Given the description of an element on the screen output the (x, y) to click on. 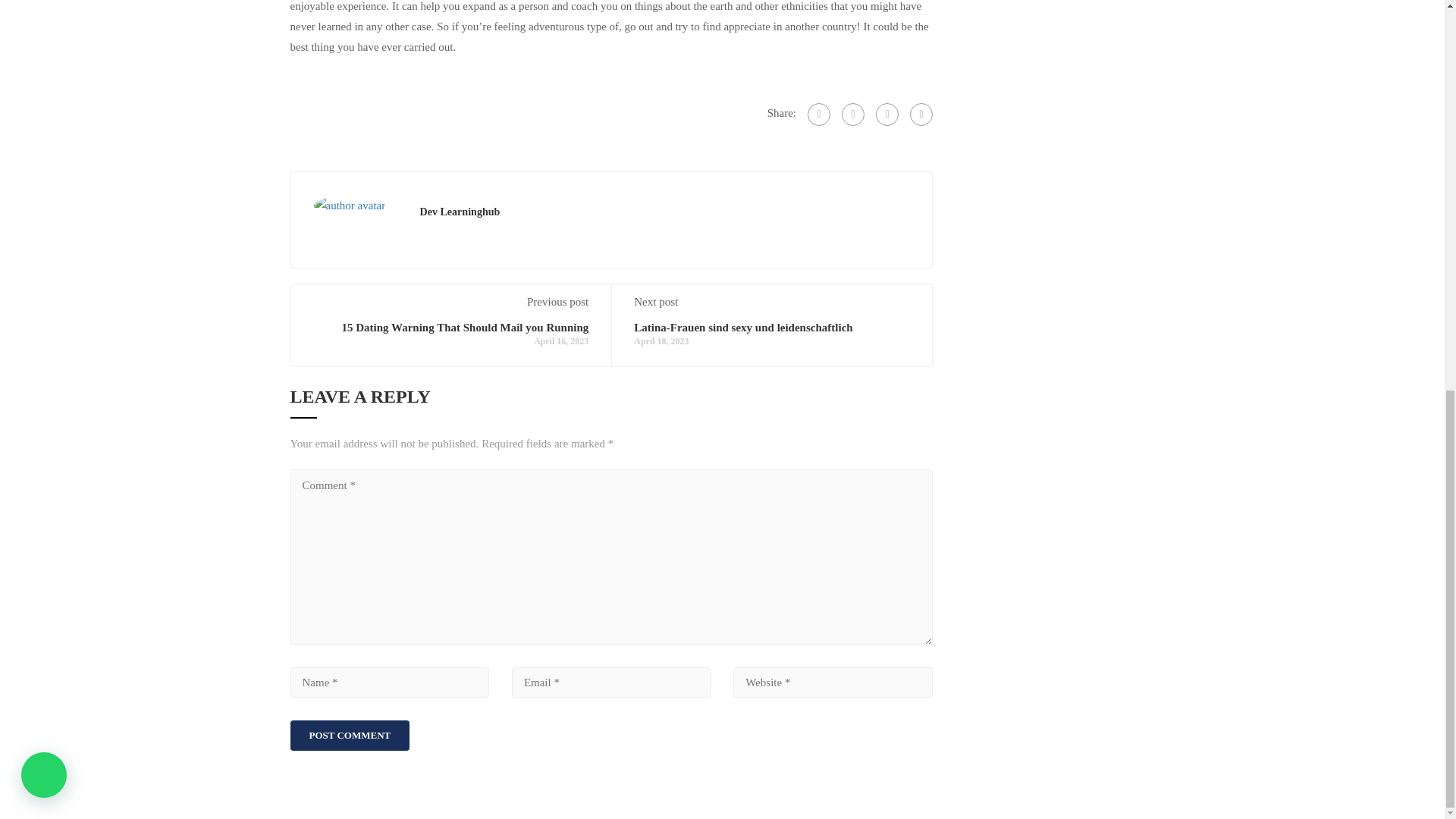
Twitter (887, 114)
Facebook (818, 114)
Pinterest (921, 114)
Post Comment (349, 735)
Google Plus (852, 114)
